Given the description of an element on the screen output the (x, y) to click on. 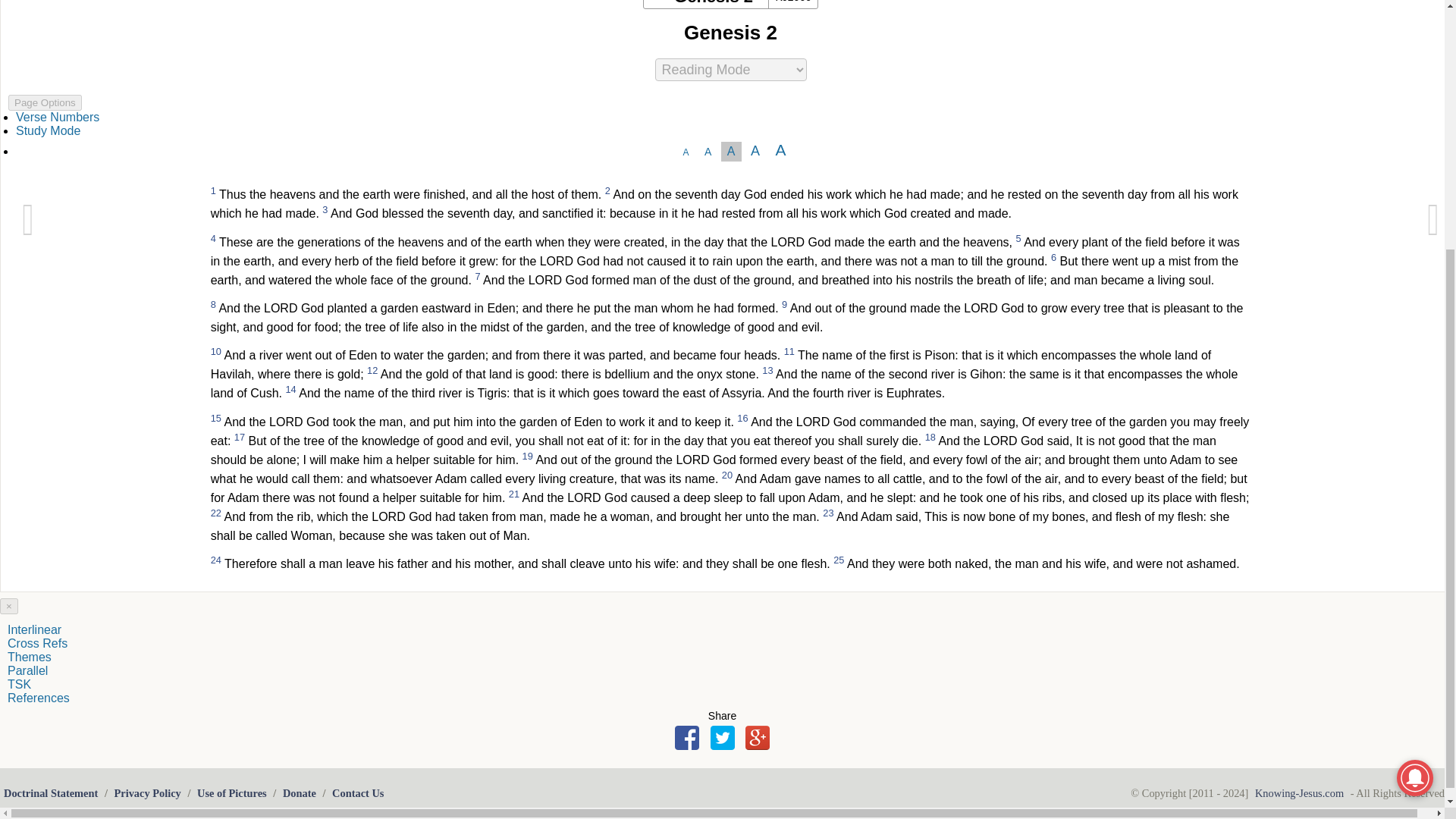
Share with Twitter (721, 737)
Share with Facebook (686, 737)
